Given the description of an element on the screen output the (x, y) to click on. 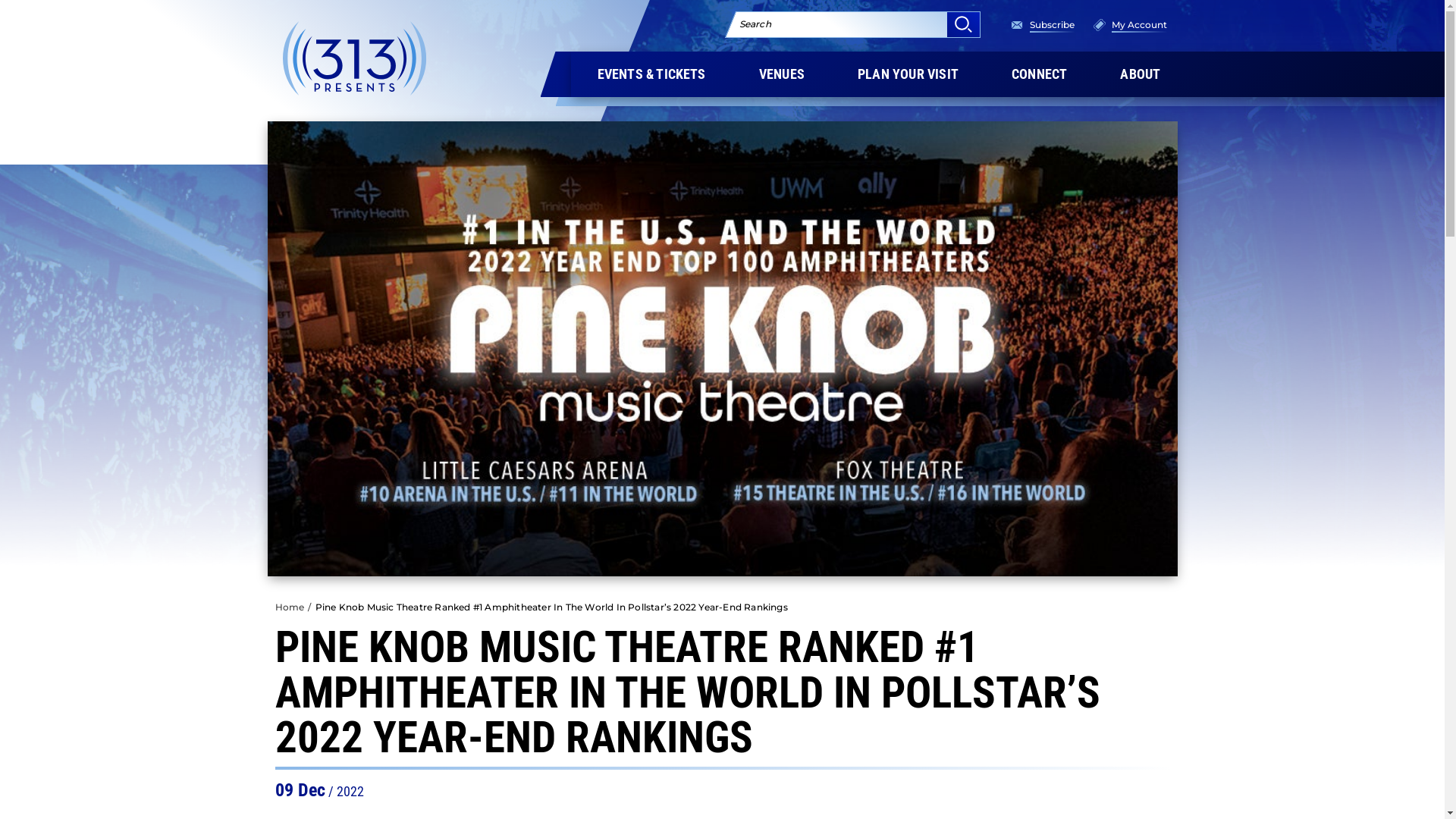
Subscribe Element type: text (1051, 24)
Search Element type: text (962, 24)
PLAN YOUR VISIT Element type: text (908, 74)
ABOUT Element type: text (1139, 74)
EVENTS & TICKETS Element type: text (650, 74)
313 Presents Element type: text (354, 58)
CONNECT Element type: text (1039, 74)
My Account Element type: text (1139, 24)
VENUES Element type: text (781, 74)
Home Element type: text (289, 606)
